Given the description of an element on the screen output the (x, y) to click on. 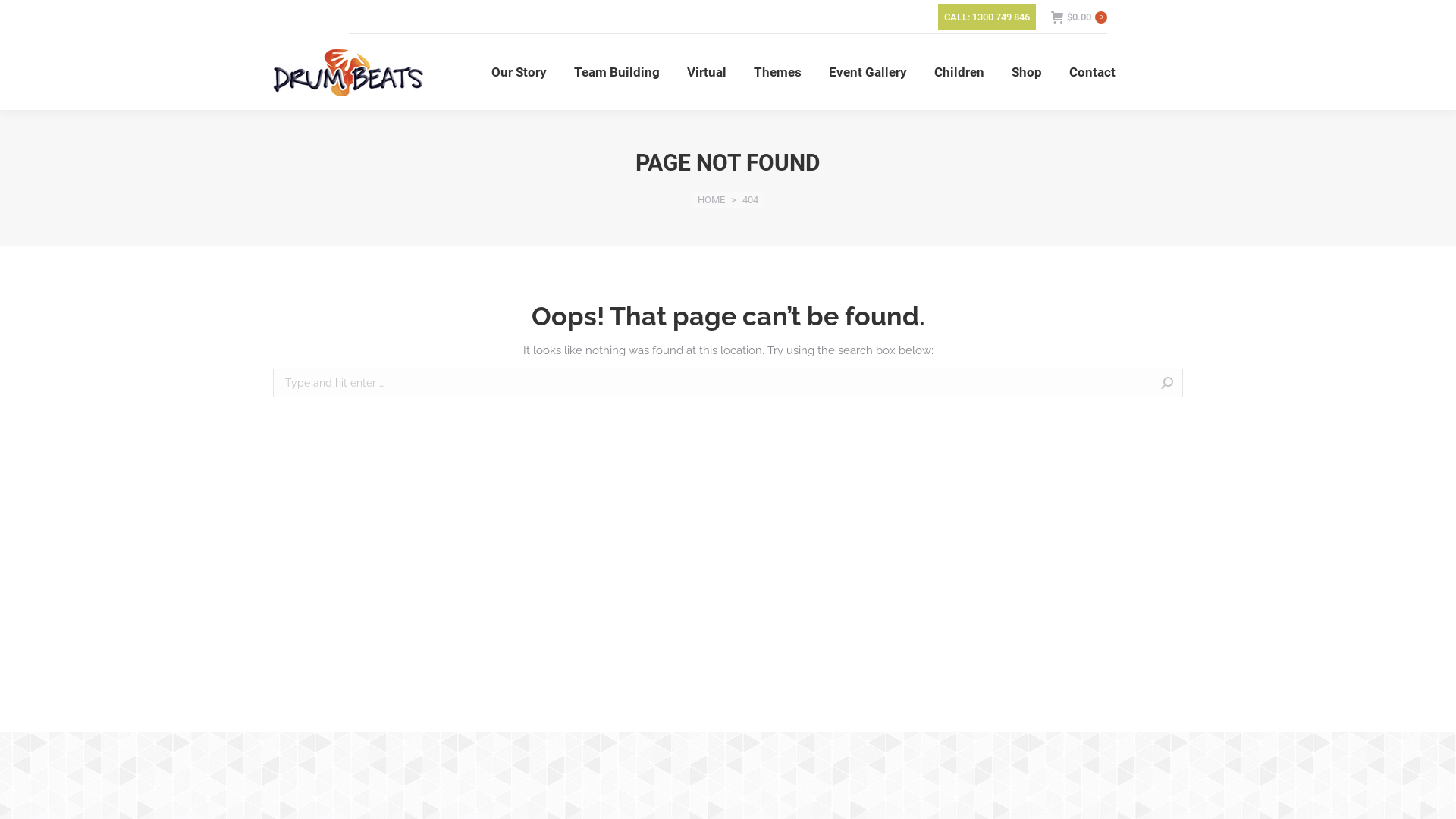
Team Building Element type: text (616, 71)
Shop Element type: text (1026, 71)
Virtual Element type: text (706, 71)
Children Element type: text (959, 71)
Our Story Element type: text (518, 71)
Go! Element type: text (1206, 384)
Event Gallery Element type: text (867, 71)
Contact Element type: text (1092, 71)
HOME Element type: text (711, 199)
Themes Element type: text (777, 71)
$0.00
0 Element type: text (1079, 16)
